Given the description of an element on the screen output the (x, y) to click on. 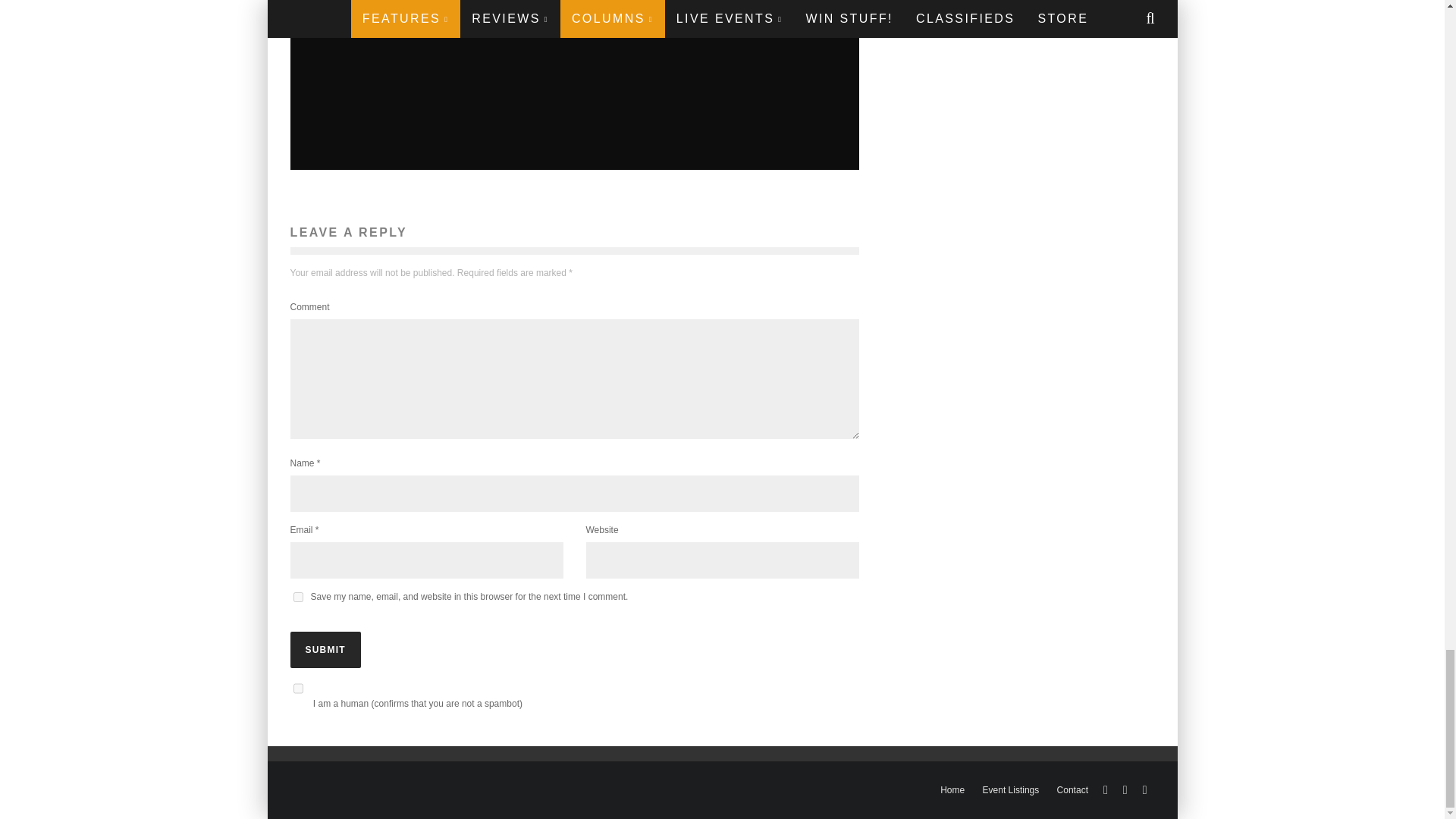
yes (297, 596)
Submit (324, 649)
